Given the description of an element on the screen output the (x, y) to click on. 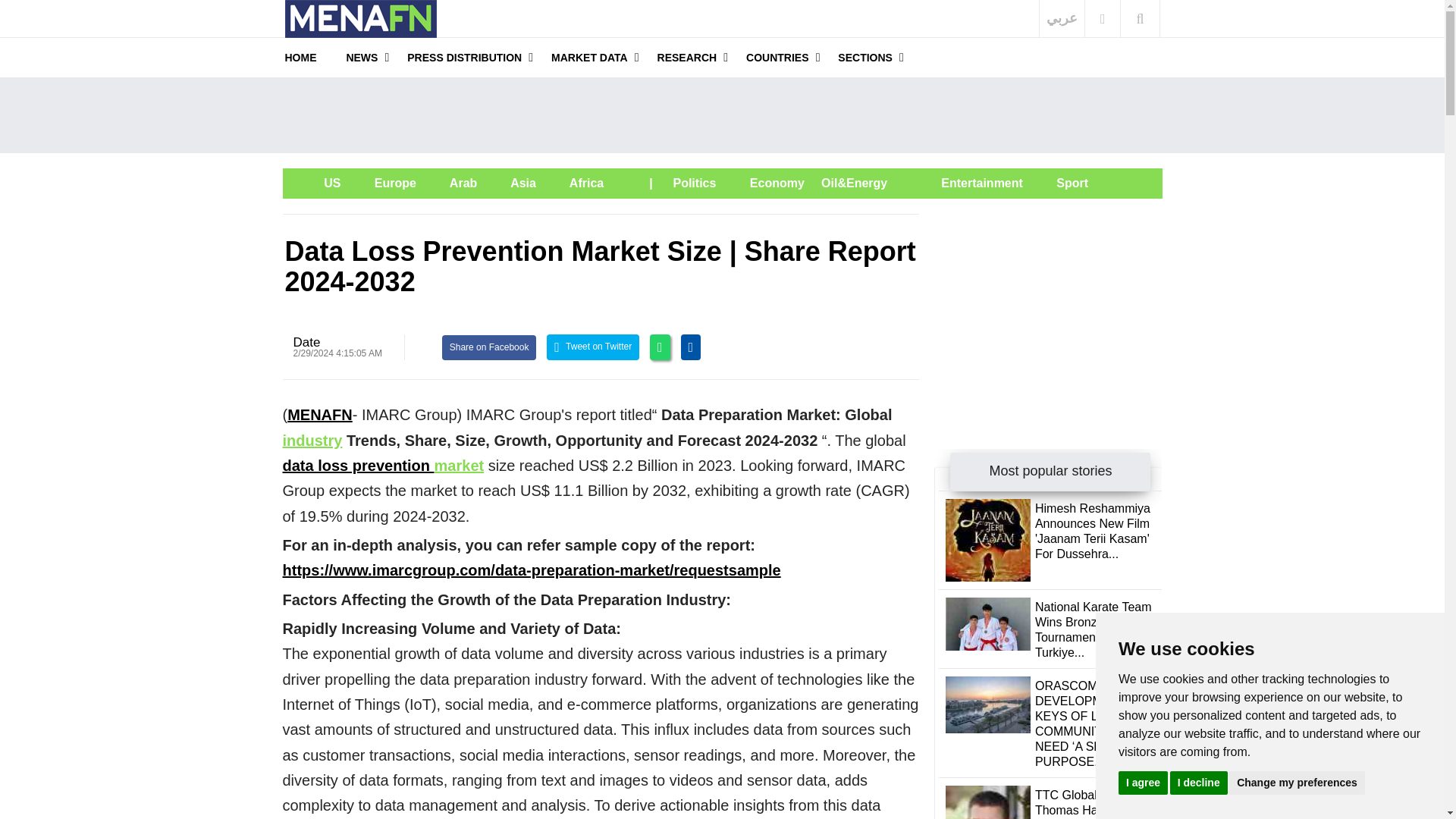
I decline (1198, 781)
I agree (1142, 781)
PRESS DISTRIBUTION (464, 56)
Posts by NewEdge (306, 341)
Advertisement (1047, 308)
MARKET DATA (589, 56)
Change my preferences (1296, 781)
